Given the description of an element on the screen output the (x, y) to click on. 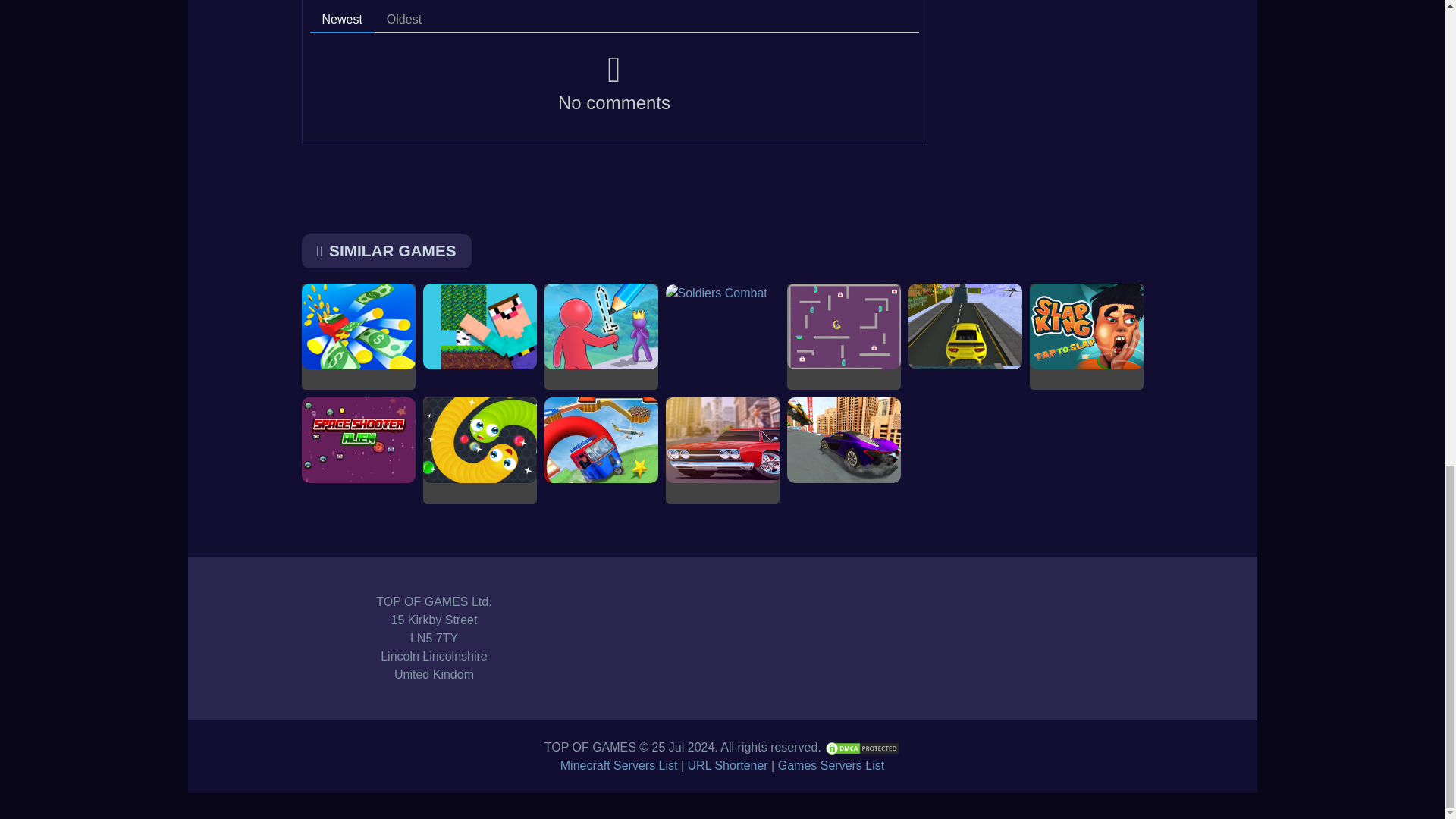
Free URL Shortener (727, 765)
Free Minecraft Servers List (619, 765)
Games Servers List (830, 765)
DMCA.com Protection Status (861, 747)
